Given the description of an element on the screen output the (x, y) to click on. 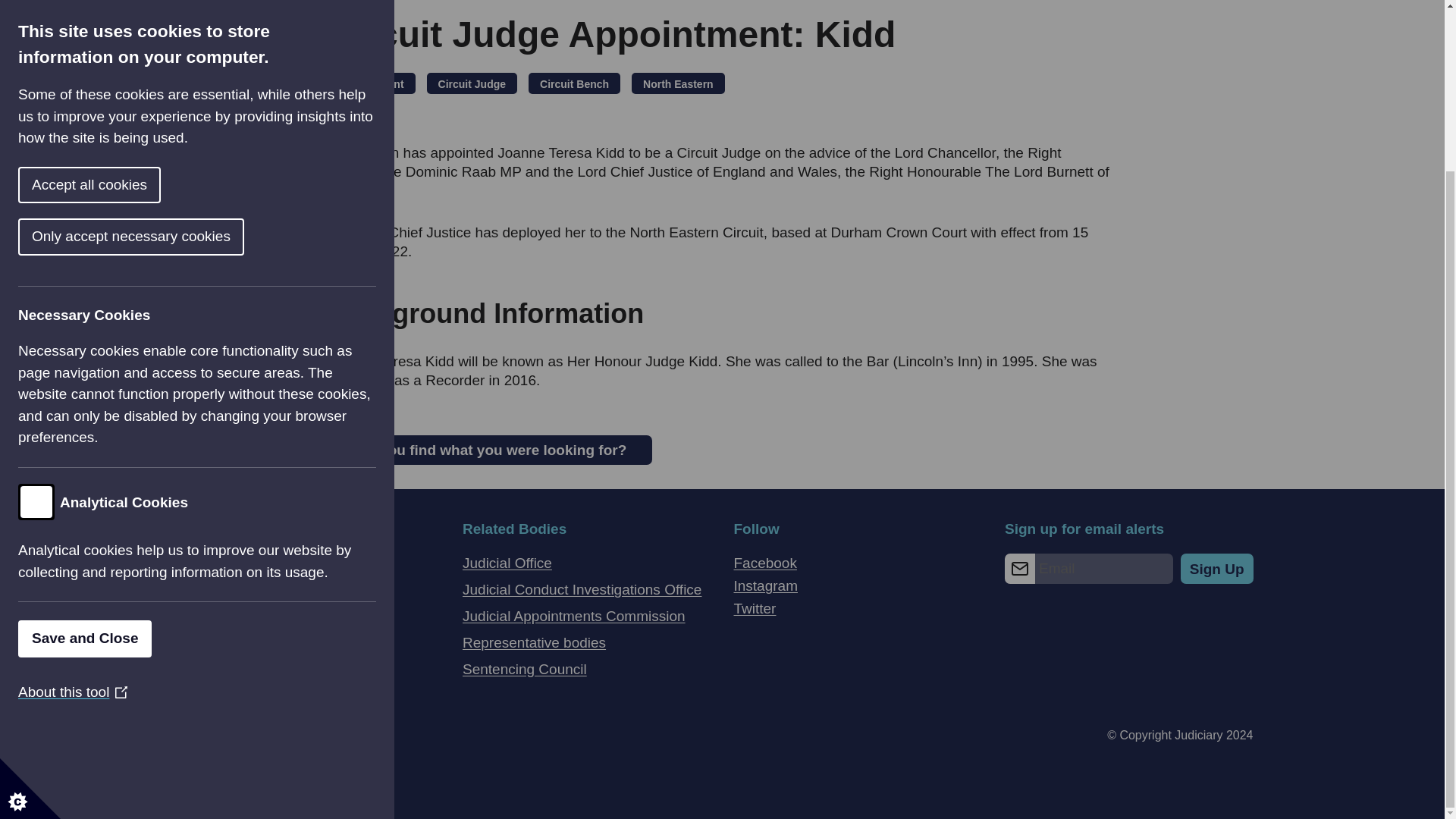
Sign Up (1216, 568)
